Given the description of an element on the screen output the (x, y) to click on. 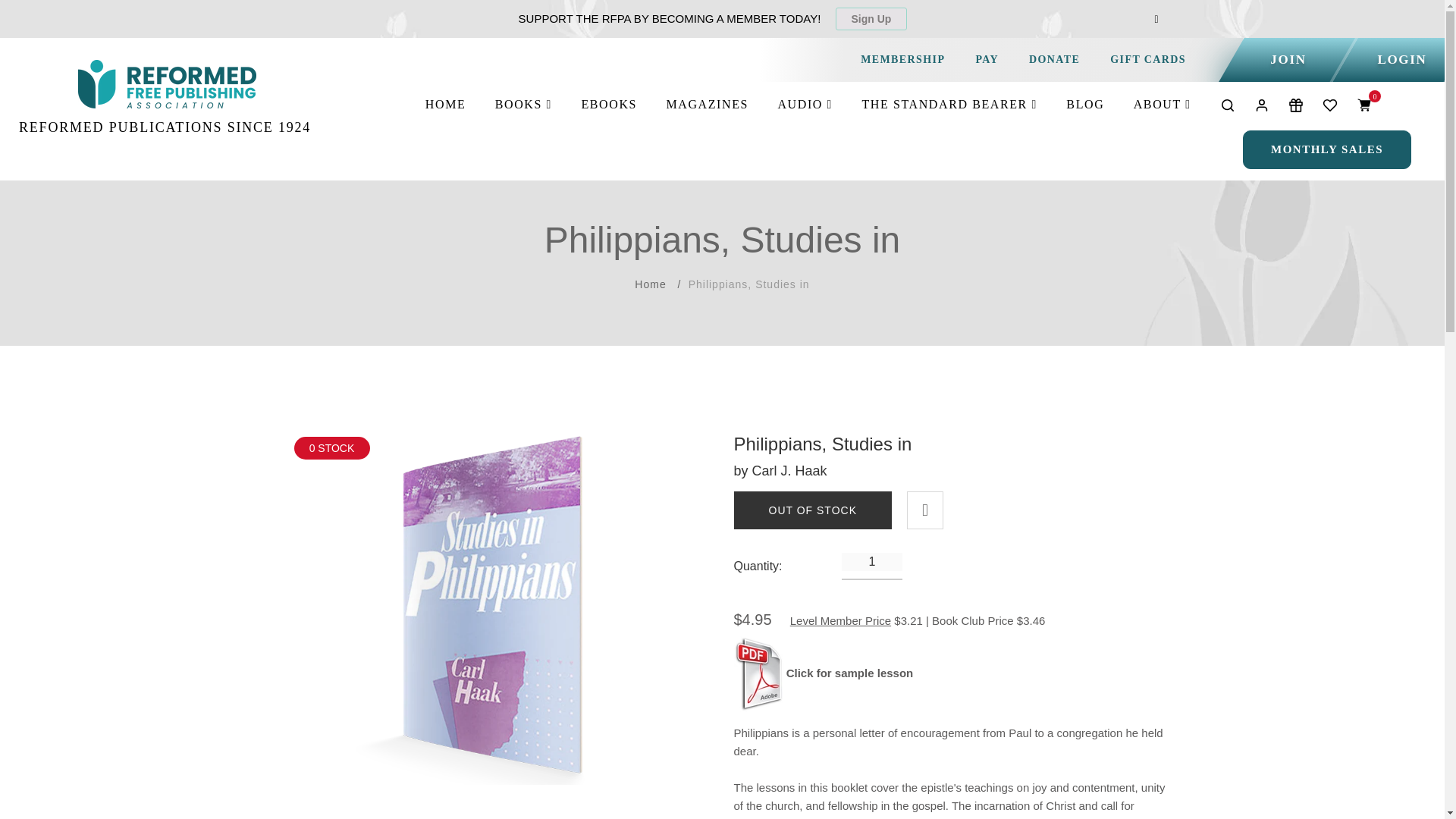
JOIN (1288, 59)
HOME (445, 104)
BOOKS (523, 104)
DONATE (1054, 59)
Sign Up (871, 18)
MEMBERSHIP (902, 59)
Back to the home page (649, 284)
GIFT CARDS (1147, 59)
1 (871, 561)
